Given the description of an element on the screen output the (x, y) to click on. 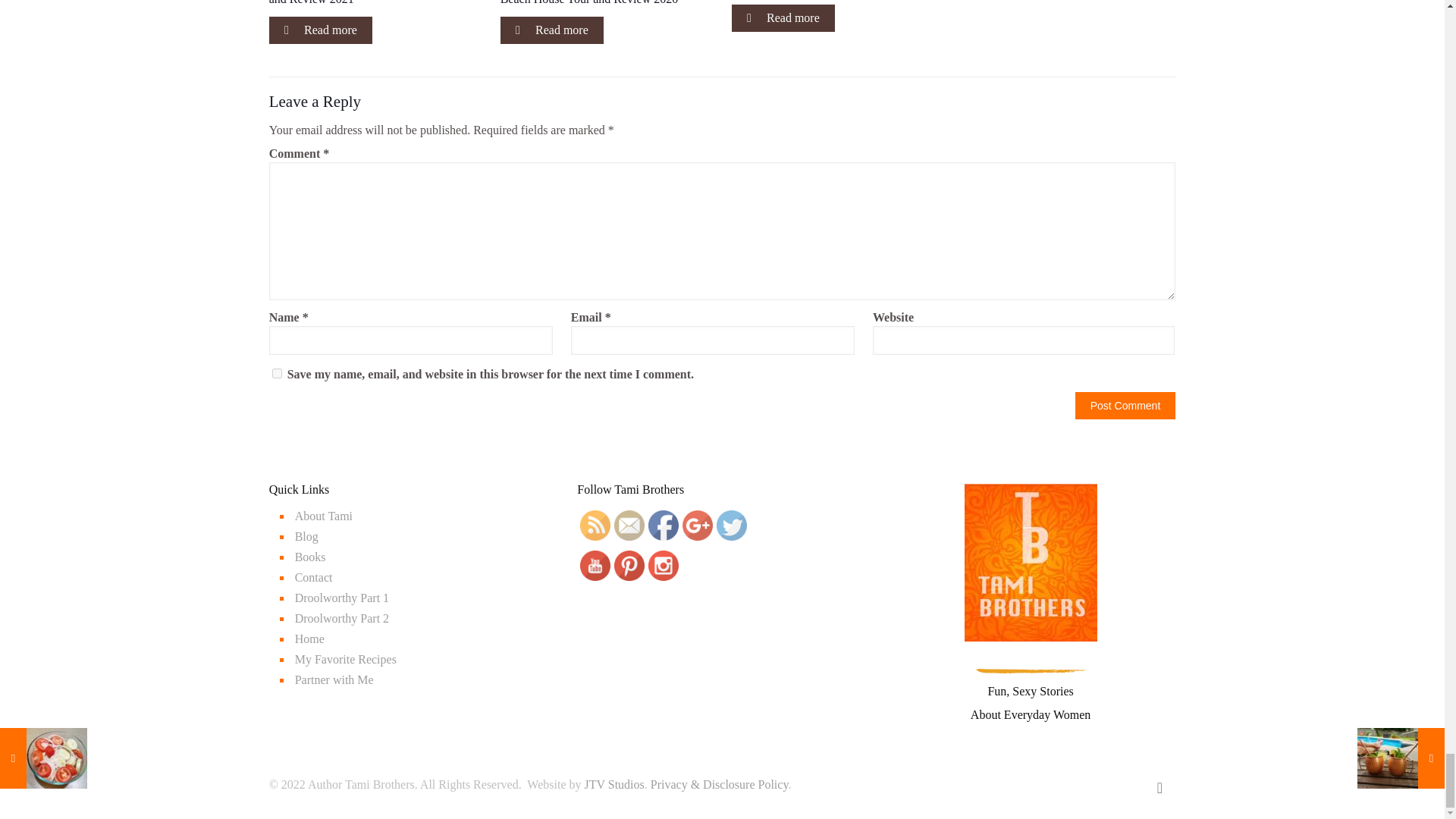
RSS (1120, 784)
Facebook (1059, 784)
Twitter (731, 525)
YouTube (594, 565)
RSS (594, 525)
Instagram (662, 565)
Pinterest (1100, 784)
Follow by Email (629, 525)
Facebook (662, 525)
yes (277, 373)
Post Comment (1125, 405)
Twitter (1079, 784)
Pinterest (629, 565)
